Given the description of an element on the screen output the (x, y) to click on. 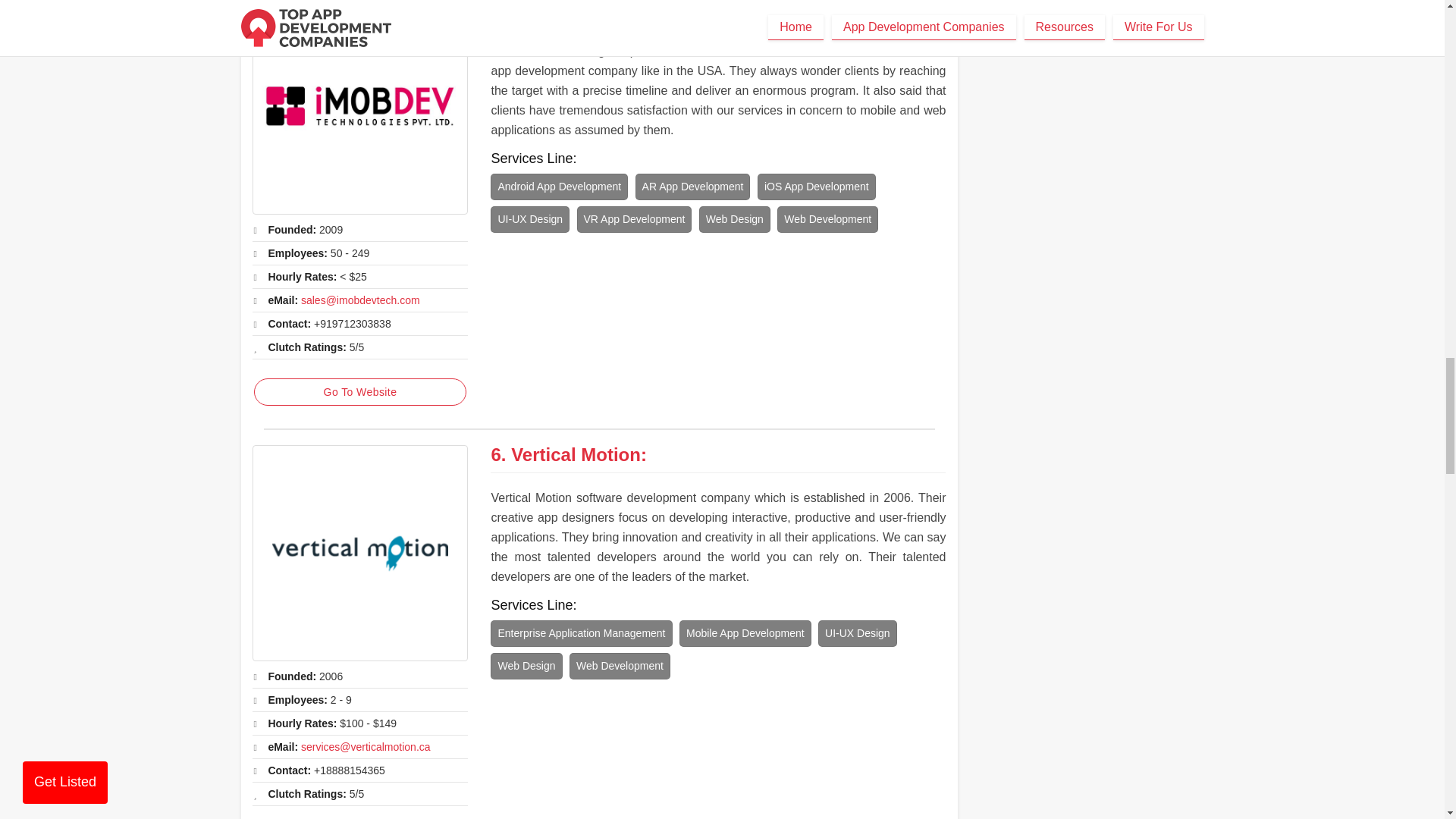
iMOBDEV Technologies Pvt Ltd (647, 9)
Go To Website (359, 391)
Vertical Motion (575, 454)
iMOBDEV Technologies Pvt Ltd (359, 107)
Vertical Motion (359, 552)
